Given the description of an element on the screen output the (x, y) to click on. 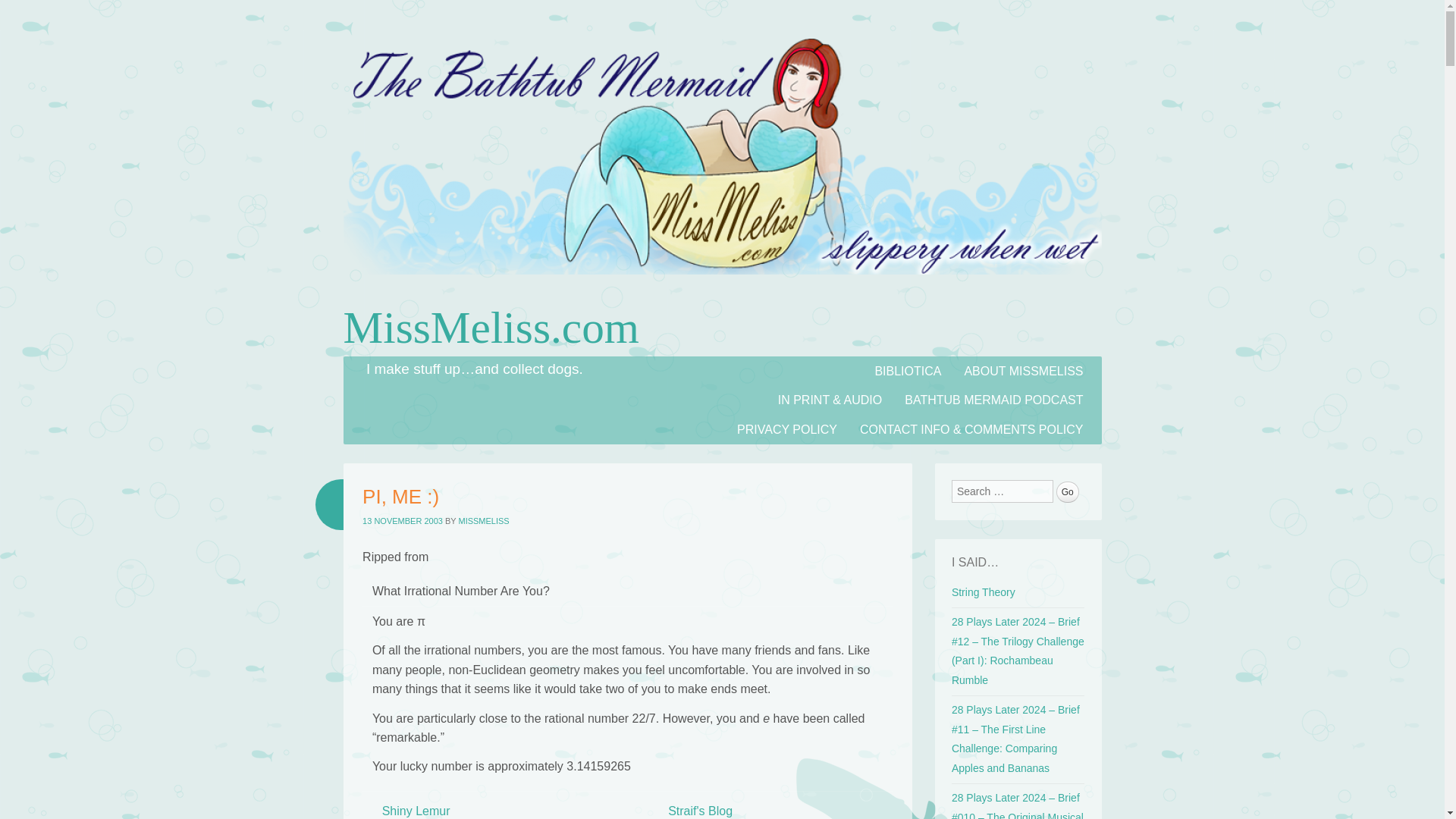
Skip to content (382, 365)
Straif's Blog (700, 810)
00:25 (402, 520)
MISSMELISS (483, 520)
PRIVACY POLICY (786, 428)
ABOUT MISSMELISS (1023, 370)
Go (1067, 491)
String Theory (983, 592)
13 NOVEMBER 2003 (402, 520)
View all posts by MissMeliss (483, 520)
MissMeliss.com (721, 289)
MissMeliss.com (490, 327)
BIBLIOTICA (907, 370)
MissMeliss.com (490, 327)
BATHTUB MERMAID PODCAST (993, 399)
